Given the description of an element on the screen output the (x, y) to click on. 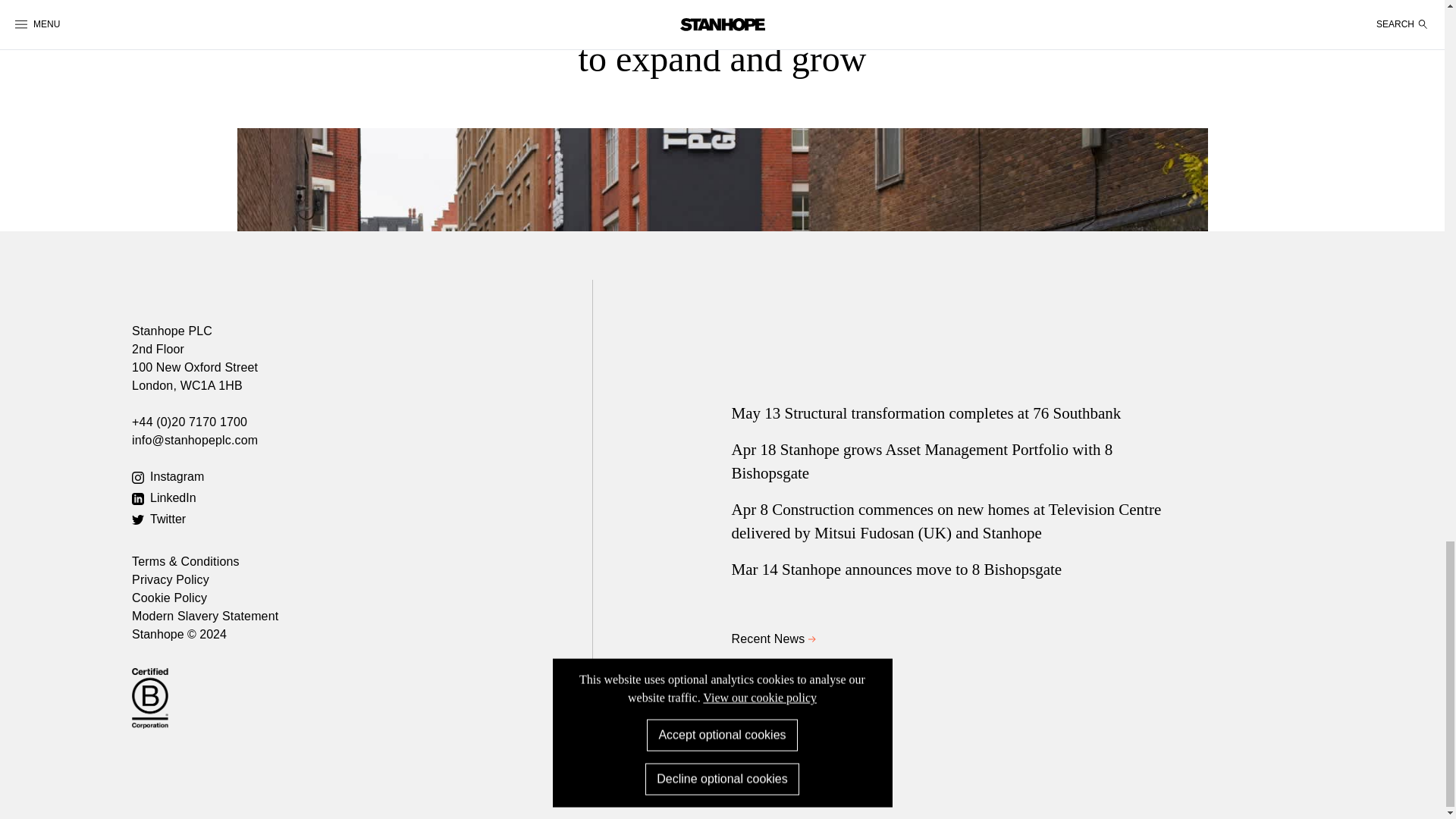
Cookie Policy (169, 597)
Privacy Policy (170, 579)
May 13 Structural transformation completes at 76 Southbank (961, 413)
Mar 14 Stanhope announces move to 8 Bishopsgate (961, 569)
LinkedIn (362, 497)
Instagram (362, 476)
Recent News (961, 638)
Modern Slavery Statement (205, 615)
Twitter (362, 519)
